Given the description of an element on the screen output the (x, y) to click on. 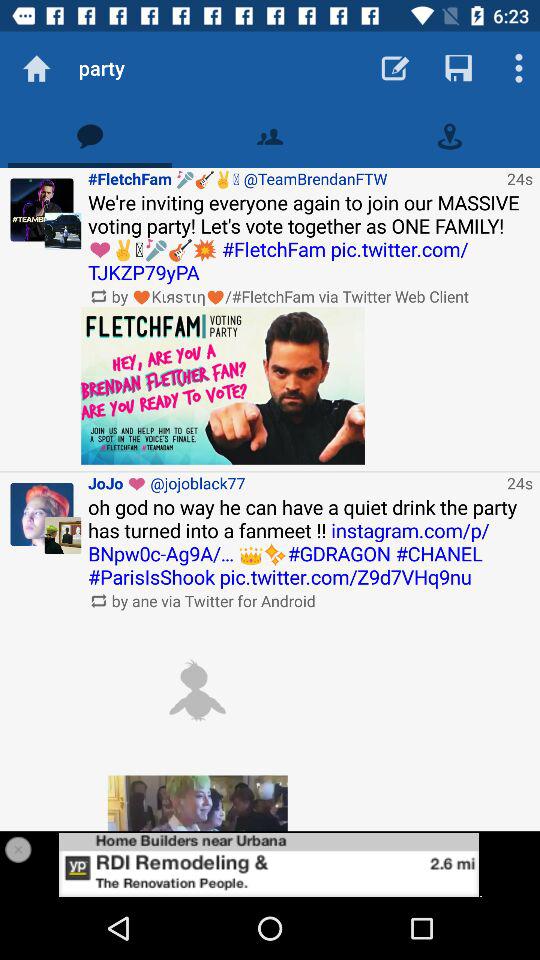
open advertisement (270, 864)
